Given the description of an element on the screen output the (x, y) to click on. 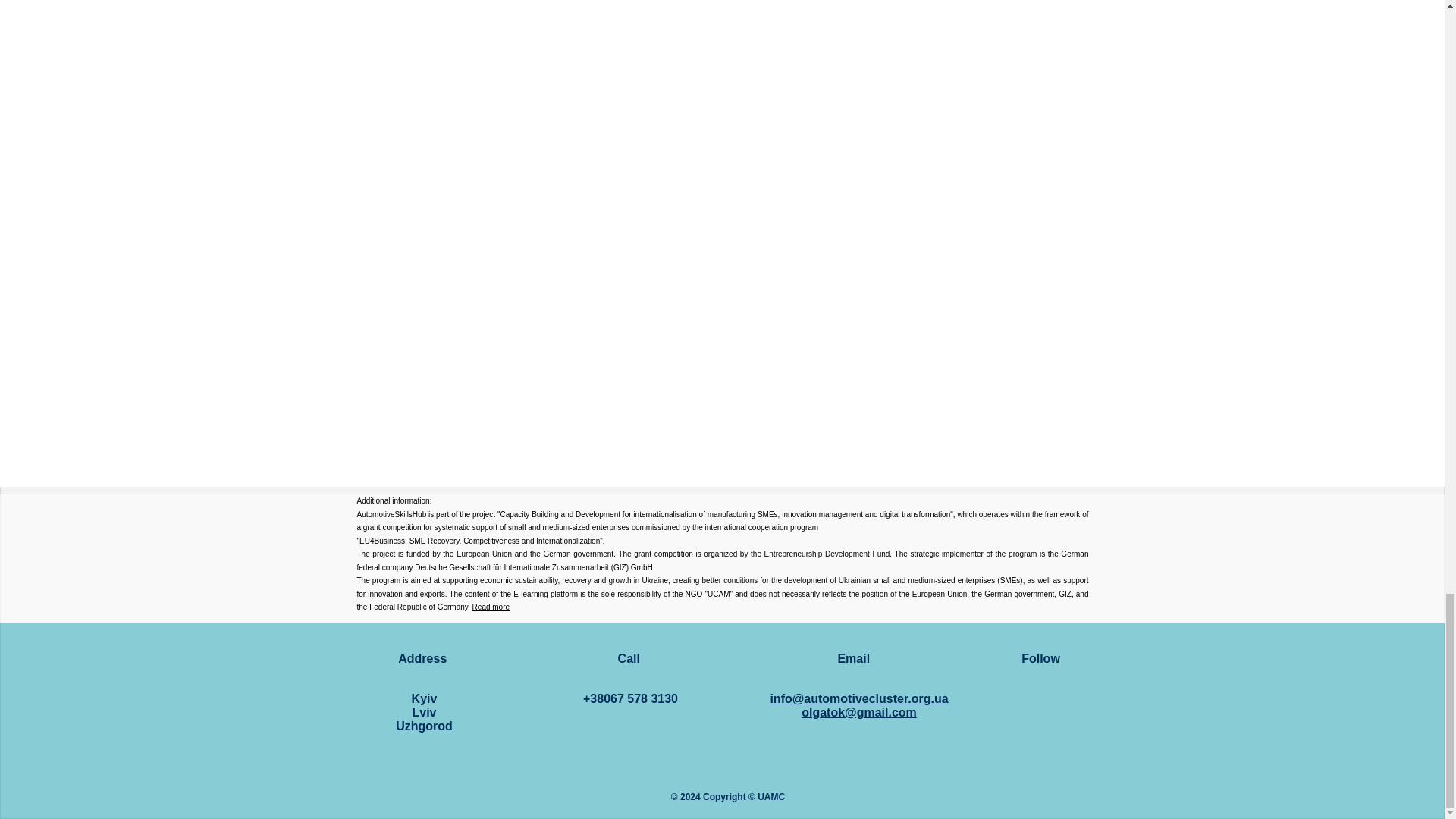
Read more (424, 712)
